Given the description of an element on the screen output the (x, y) to click on. 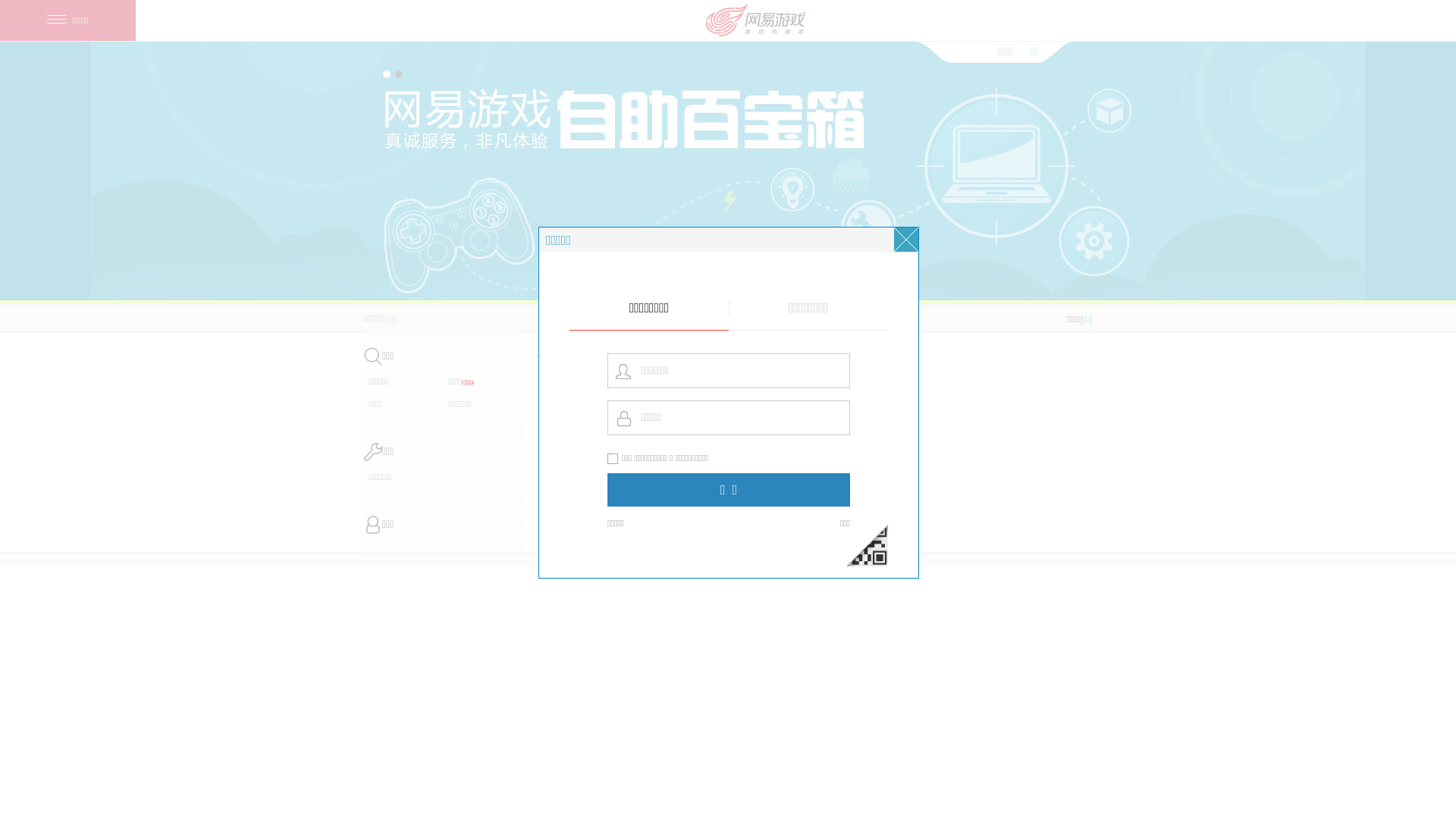
0 Element type: text (435, 328)
0 Element type: text (921, 328)
0 Element type: text (629, 328)
0 Element type: text (532, 328)
0 Element type: text (824, 328)
0 Element type: text (726, 328)
